Given the description of an element on the screen output the (x, y) to click on. 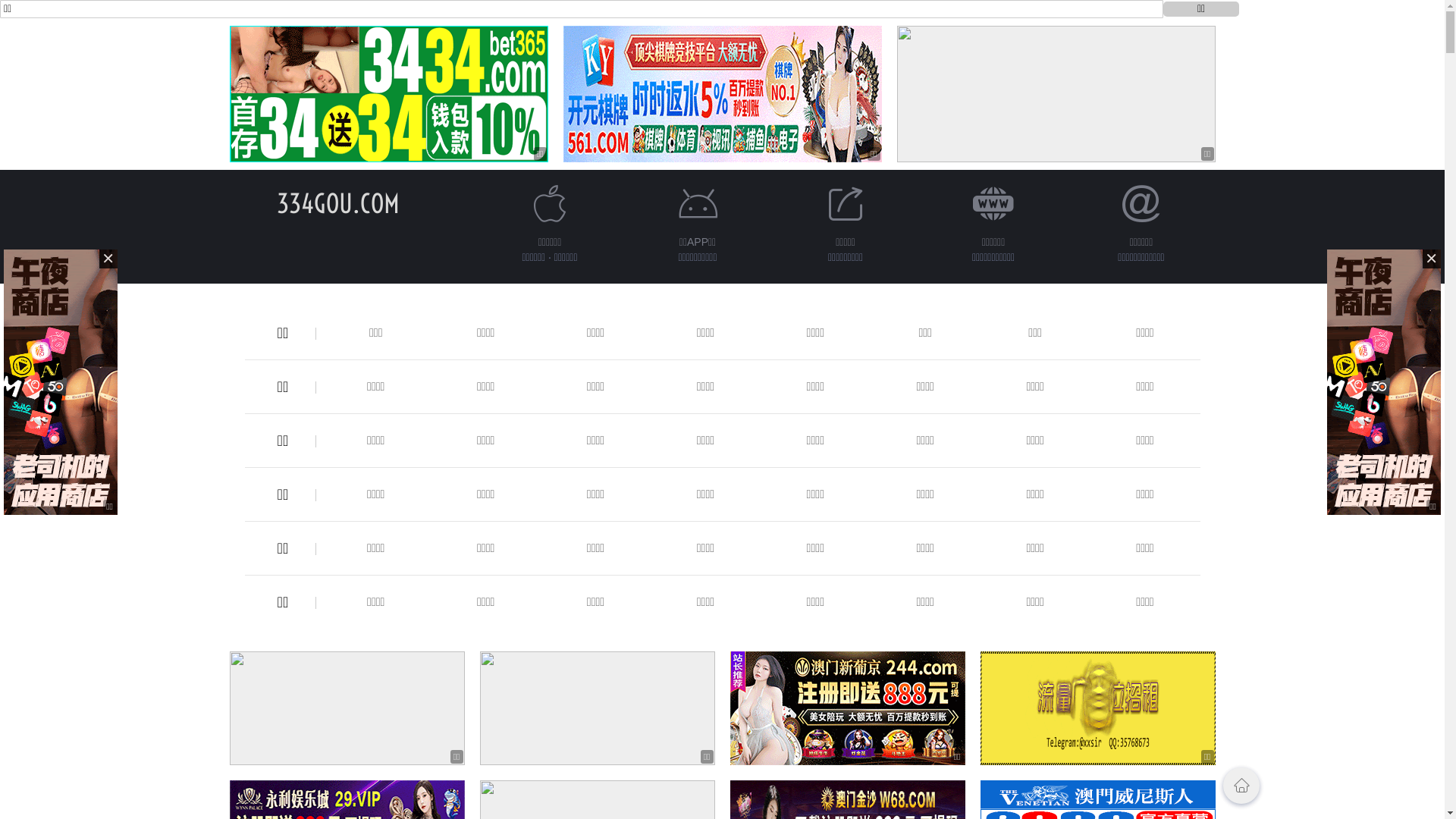
334GOU.COM Element type: text (337, 203)
